Given the description of an element on the screen output the (x, y) to click on. 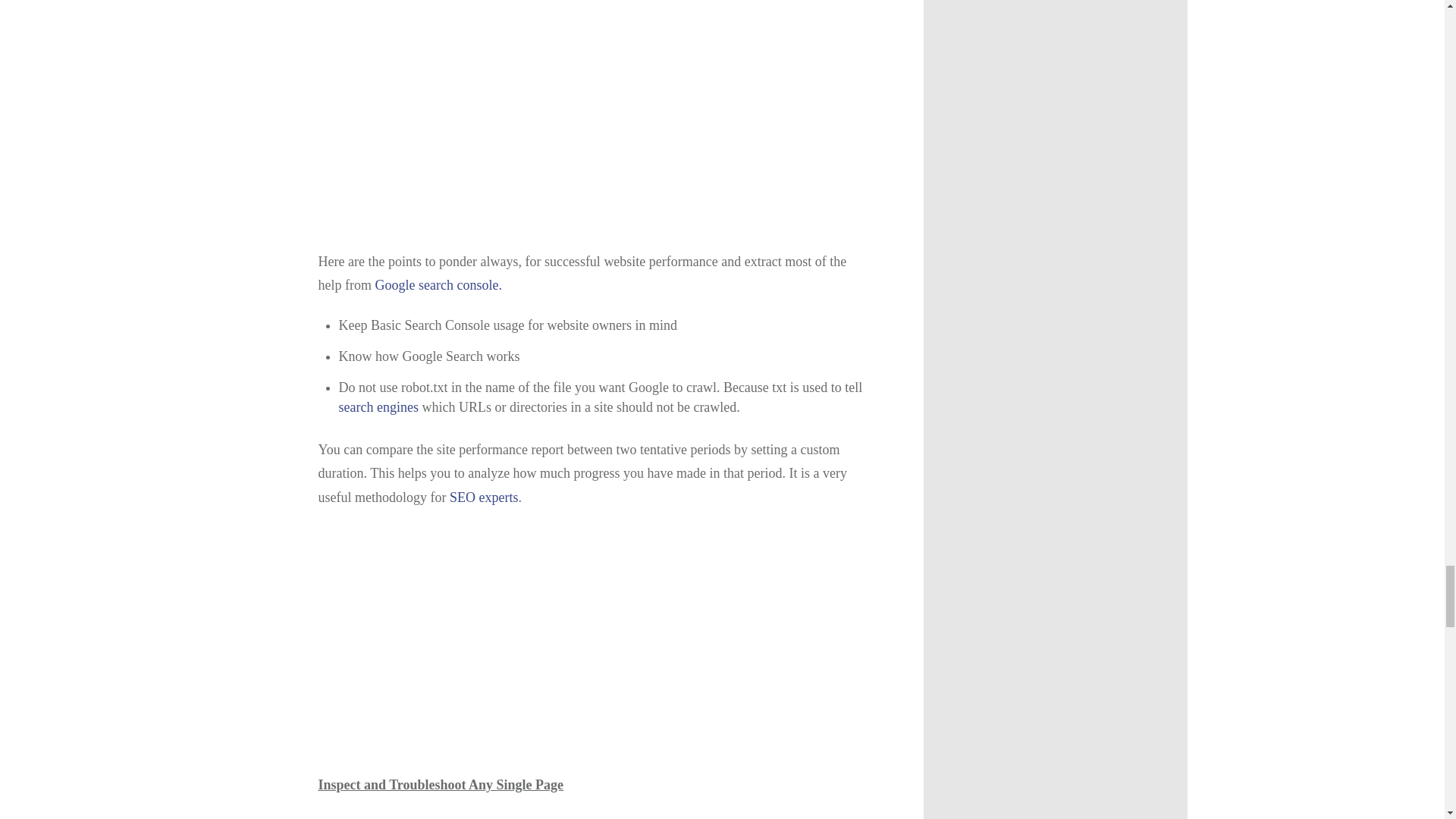
Google search console. (437, 284)
SEO experts (483, 497)
search engines (377, 406)
